Given the description of an element on the screen output the (x, y) to click on. 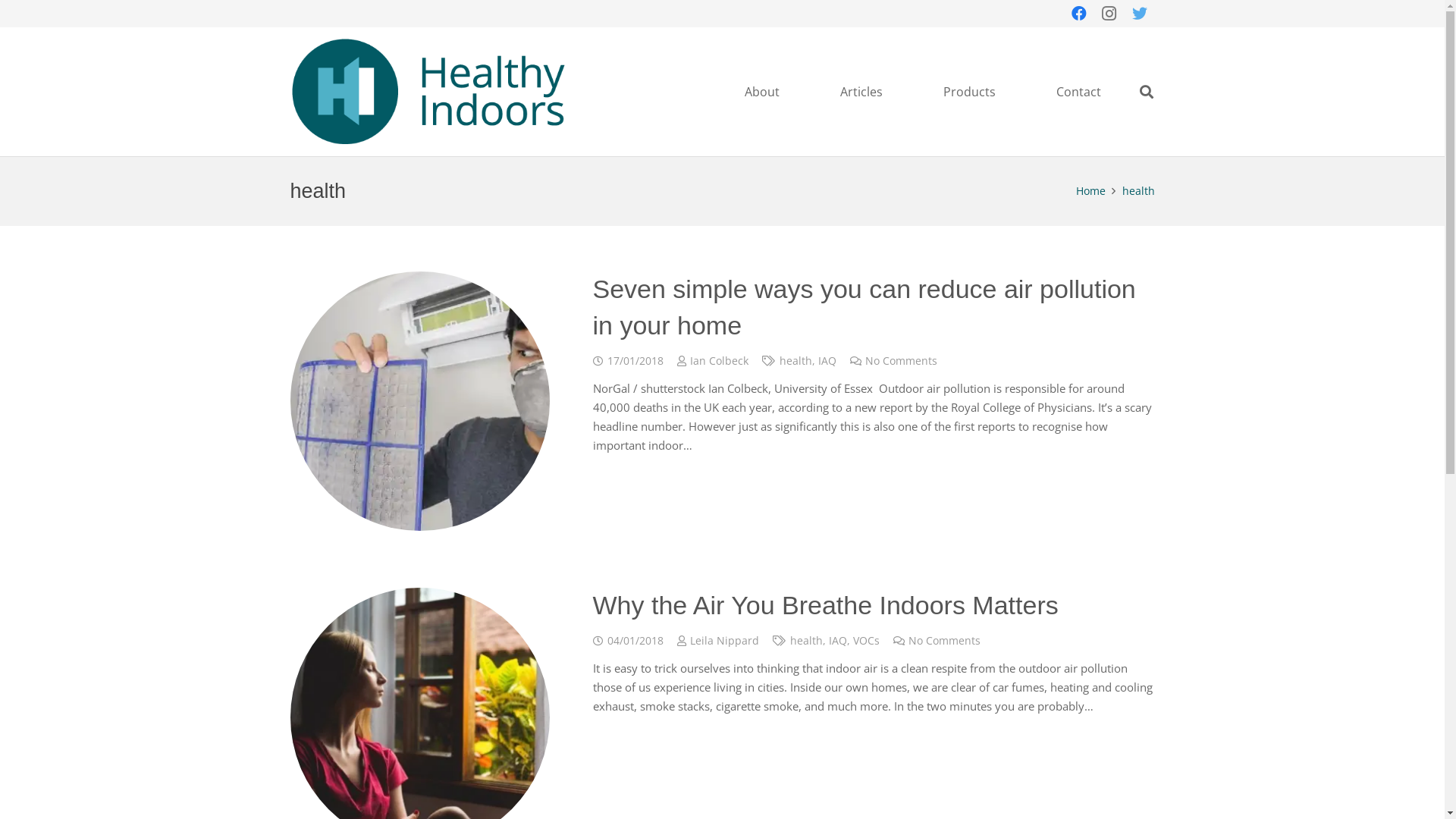
Home Element type: text (1090, 190)
No Comments Element type: text (944, 640)
Why the Air You Breathe Indoors Matters Element type: text (825, 604)
IAQ Element type: text (827, 360)
Articles Element type: text (861, 91)
Products Element type: text (969, 91)
Ian Colbeck Element type: text (719, 360)
health Element type: text (806, 640)
No Comments Element type: text (901, 360)
About Element type: text (761, 91)
health Element type: text (795, 360)
Seven simple ways you can reduce air pollution in your home Element type: text (864, 306)
VOCs Element type: text (866, 640)
Leila Nippard Element type: text (724, 640)
health Element type: text (1138, 190)
Contact Element type: text (1078, 91)
IAQ Element type: text (837, 640)
